Given the description of an element on the screen output the (x, y) to click on. 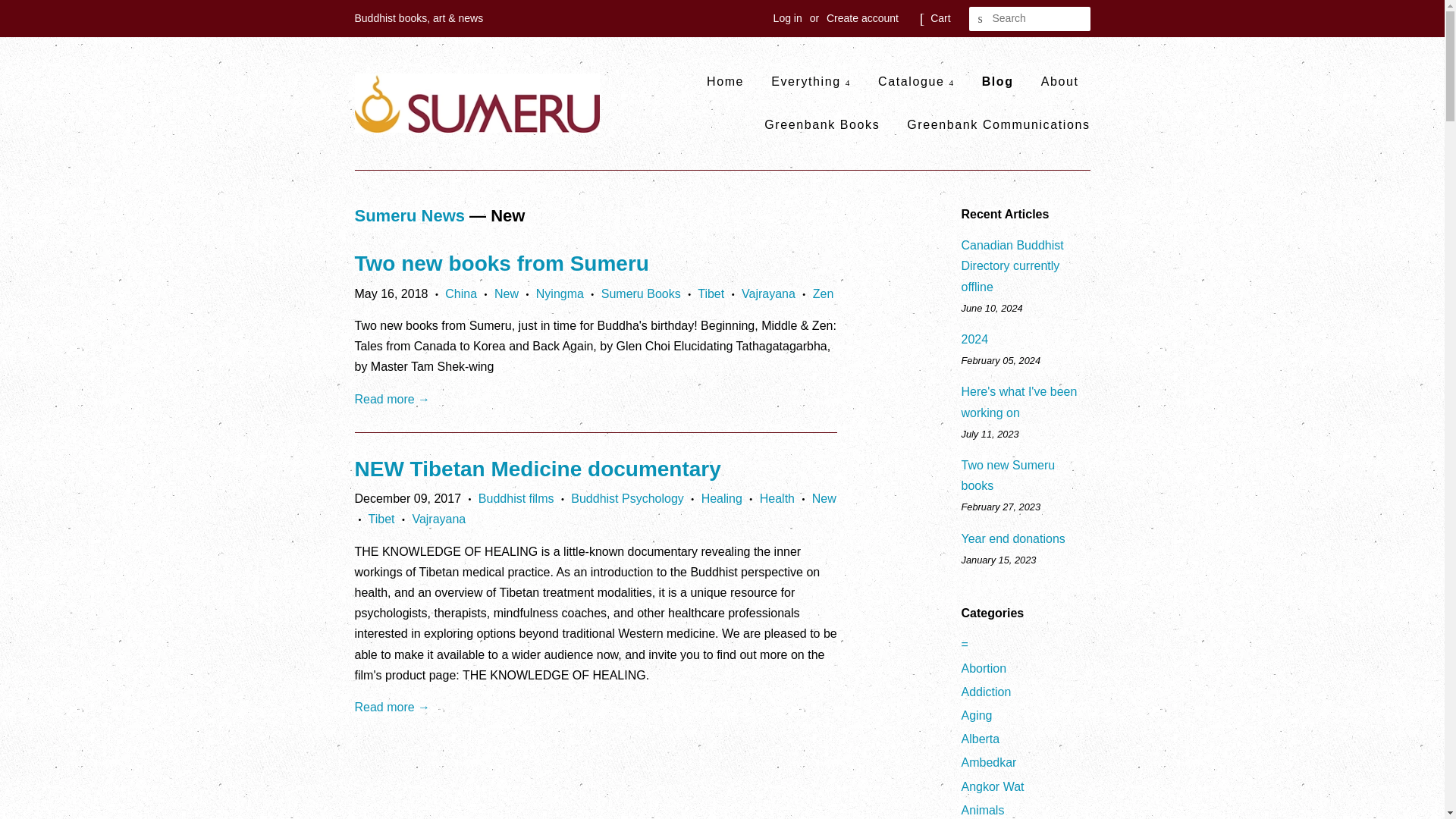
Cart (940, 18)
Show articles tagged Abortion (983, 667)
Show articles tagged Alberta (980, 738)
Search (980, 18)
Catalogue (916, 81)
Log in (787, 18)
Create account (862, 18)
Show articles tagged Angkor Wat (992, 786)
Show articles tagged Animals (982, 809)
Show articles tagged Addiction (985, 691)
Show articles tagged Ambedkar (988, 762)
Home (730, 81)
Everything (810, 81)
Show articles tagged Aging (976, 715)
